Given the description of an element on the screen output the (x, y) to click on. 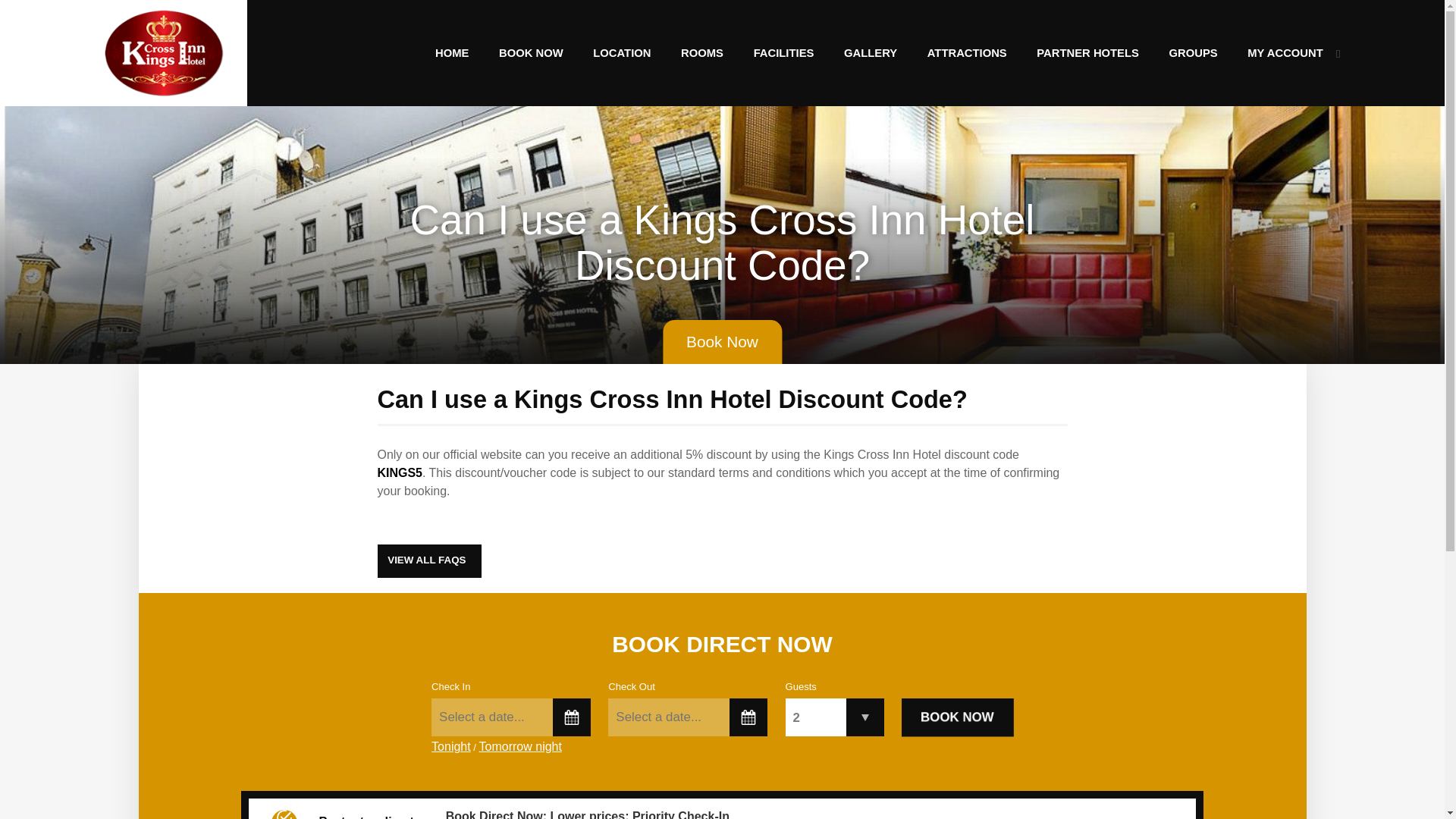
Tomorrow night (520, 750)
LOCATION (622, 52)
Book Now (721, 341)
BOOK NOW (530, 52)
Book Now (957, 717)
ATTRACTIONS (967, 52)
Home (451, 52)
Location (622, 52)
Tonight (450, 750)
FACILITIES (783, 52)
